Given the description of an element on the screen output the (x, y) to click on. 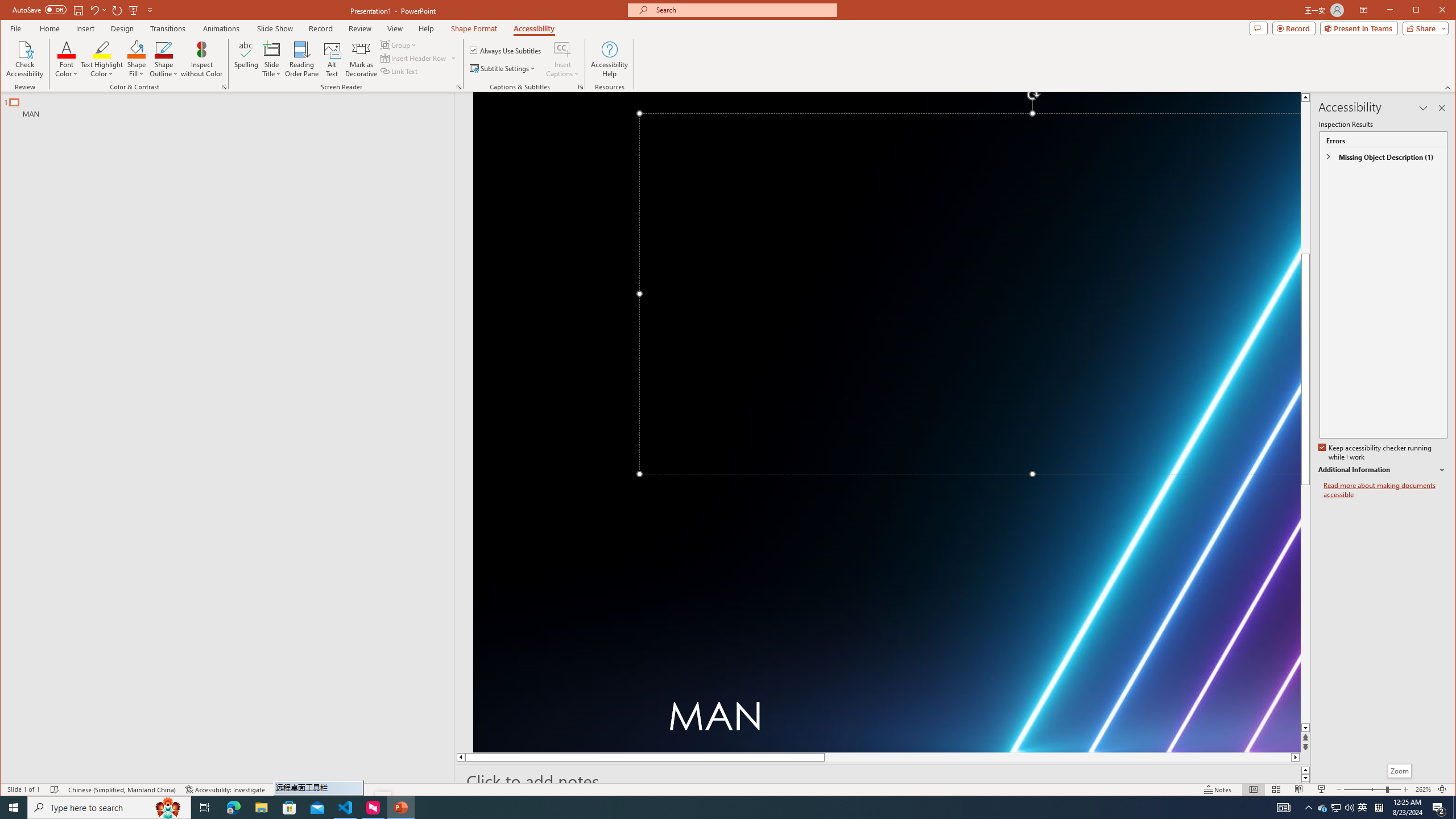
Review (1322, 807)
Shape Fill (360, 28)
Action Center, 2 new notifications (136, 59)
Maximize (1439, 807)
Additional Information (1432, 11)
Subtitle TextBox (1382, 469)
Class: MsoCommandBar (976, 717)
Title TextBox (728, 789)
User Promoted Notification Area (969, 293)
Accessibility Help (1336, 807)
Save (608, 59)
